Given the description of an element on the screen output the (x, y) to click on. 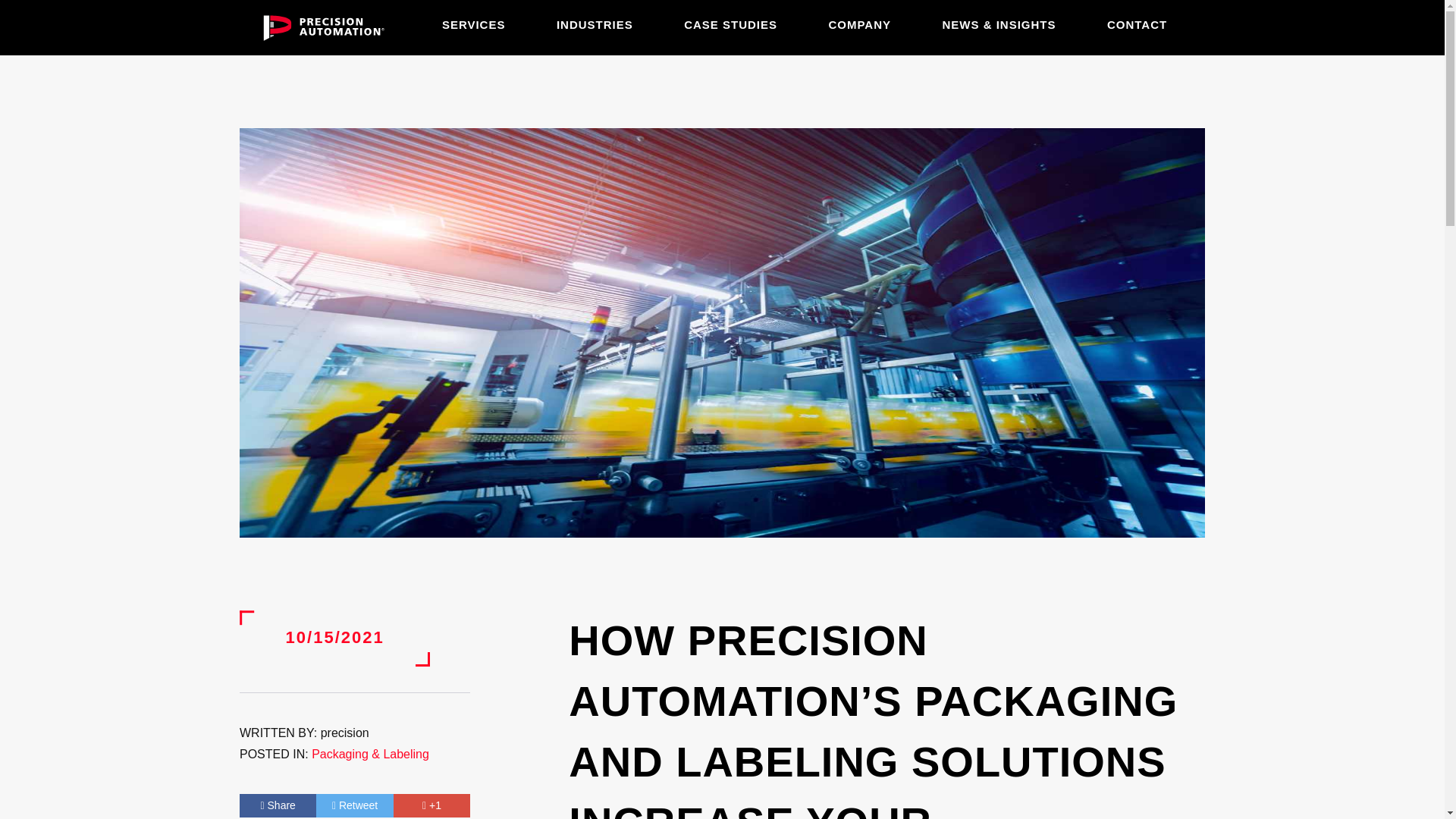
CONTACT (1136, 24)
SERVICES (473, 24)
COMPANY (859, 24)
INDUSTRIES (594, 24)
CASE STUDIES (730, 24)
